Given the description of an element on the screen output the (x, y) to click on. 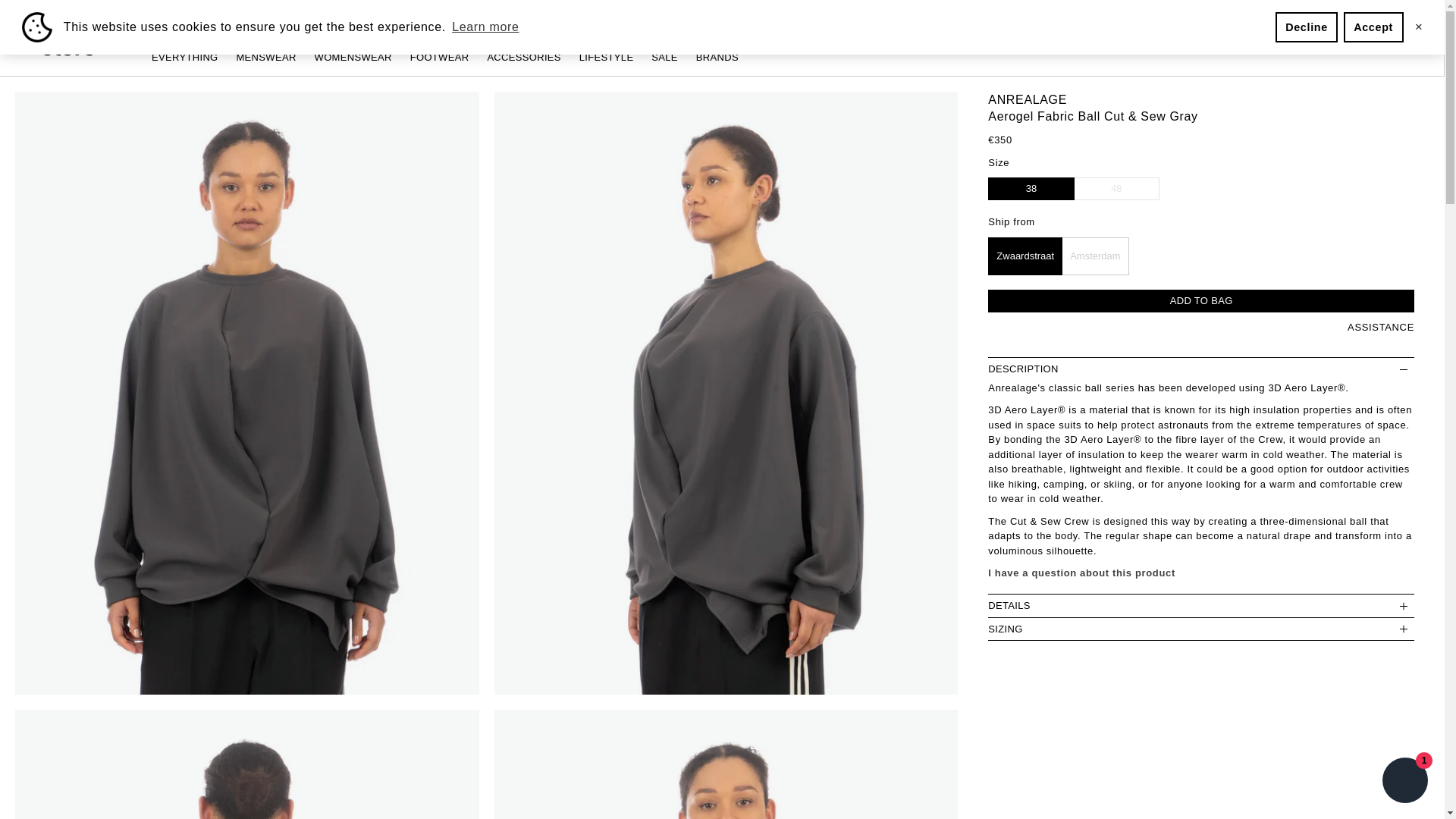
BRANDS (716, 57)
Accept (1373, 27)
LOGIN (1361, 18)
Learn more (485, 26)
WOMENSWEAR (354, 57)
ACCESSORIES (524, 57)
FOOTWEAR (440, 57)
SALE (664, 57)
Decline (1306, 27)
LIFESTYLE (608, 57)
EVERYTHING (186, 57)
SUPPORT (1243, 18)
Shopify online store chat (1404, 781)
MENSWEAR (266, 57)
